Given the description of an element on the screen output the (x, y) to click on. 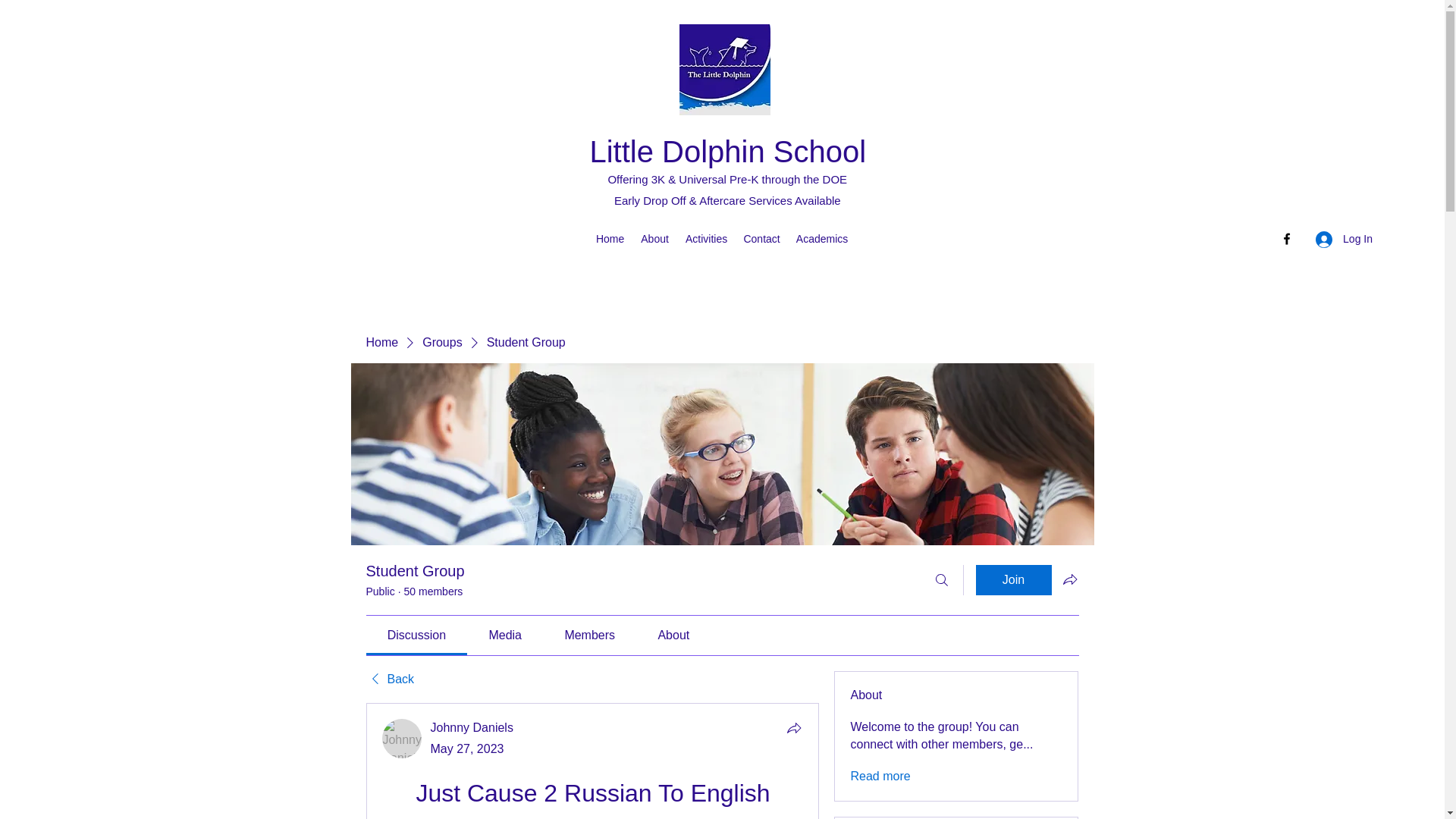
Home (381, 342)
Join (1013, 580)
About (654, 238)
Back (389, 678)
Log In (1343, 239)
Groups (441, 342)
Johnny Daniels (471, 727)
Activities (706, 238)
May 27, 2023 (466, 748)
Academics (822, 238)
